Given the description of an element on the screen output the (x, y) to click on. 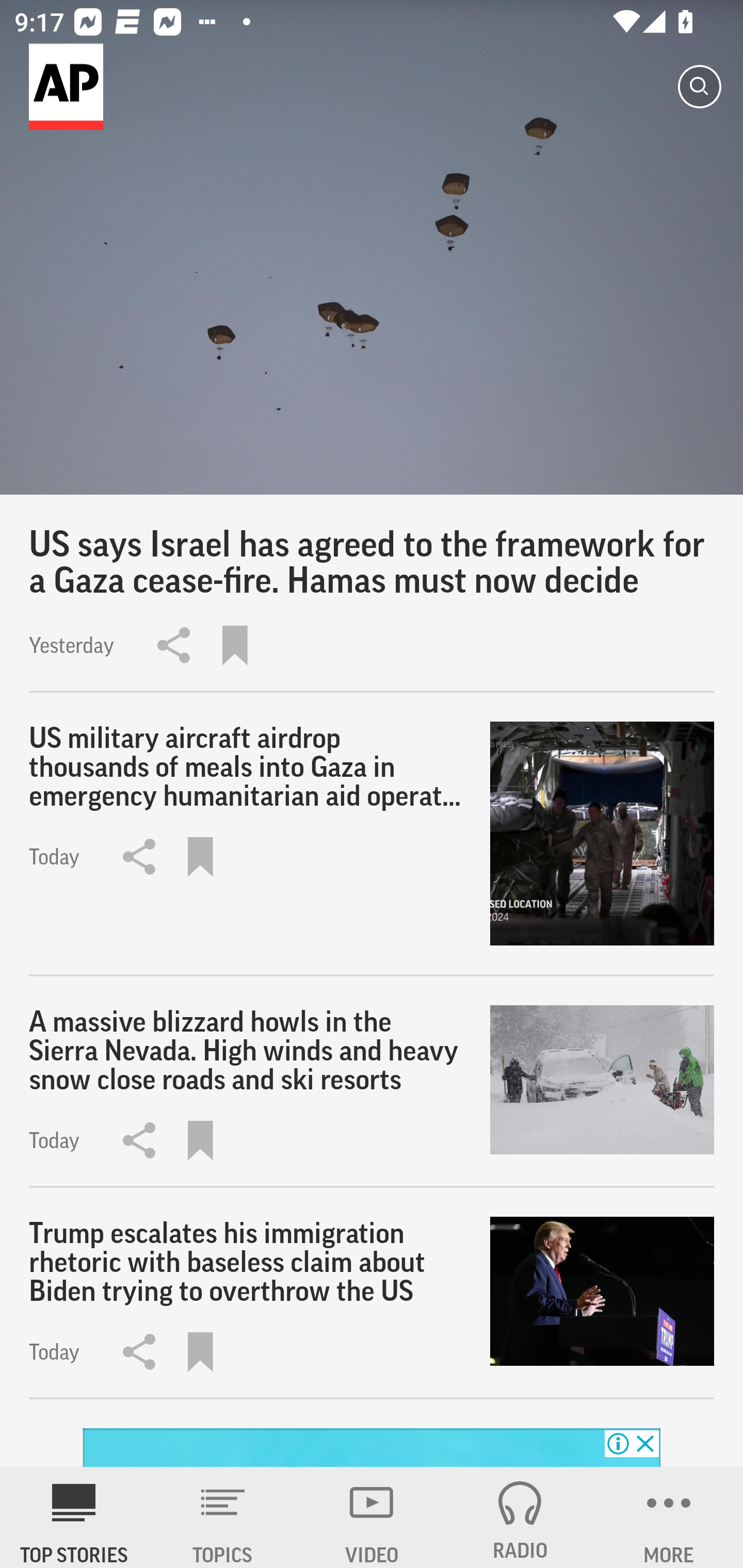
AP News TOP STORIES (74, 1517)
TOPICS (222, 1517)
VIDEO (371, 1517)
RADIO (519, 1517)
MORE (668, 1517)
